Given the description of an element on the screen output the (x, y) to click on. 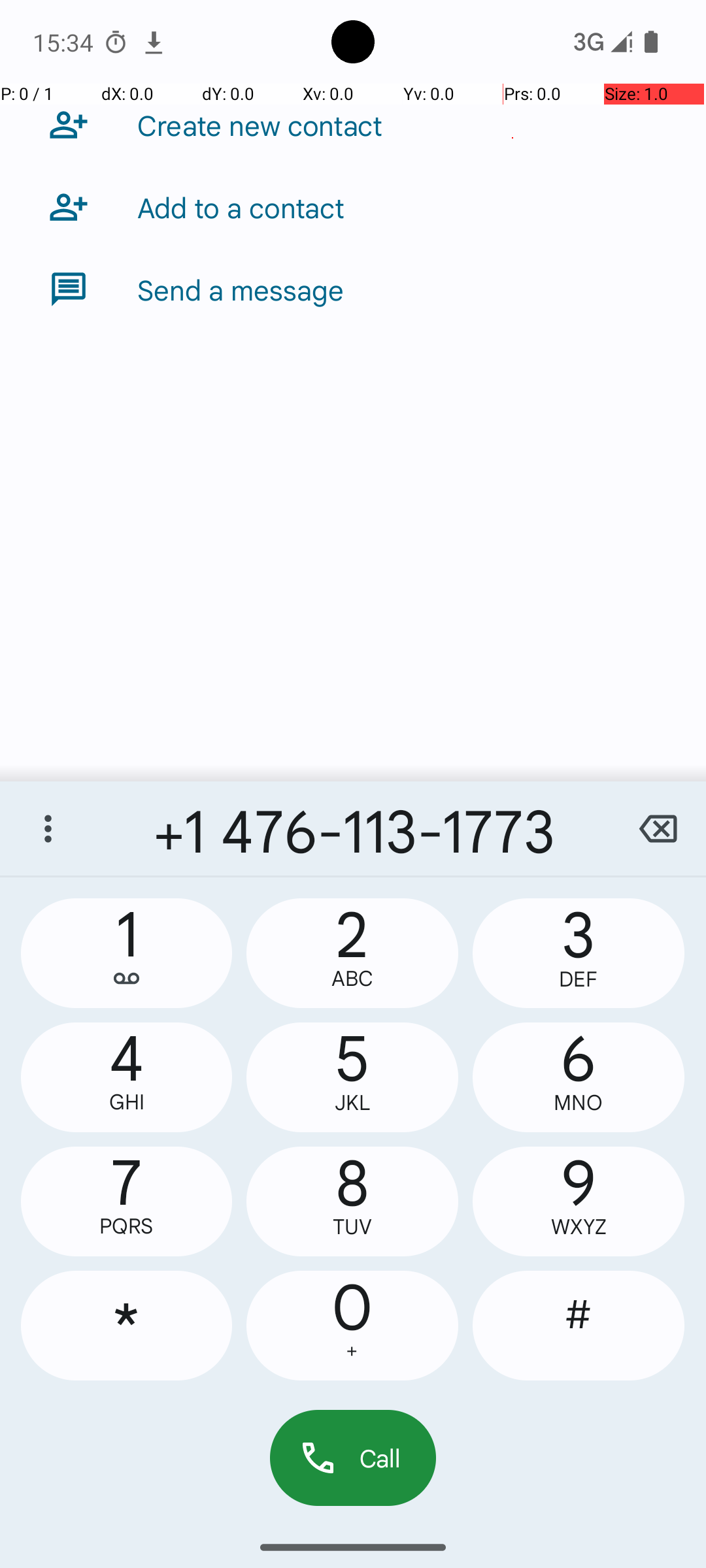
+1 476-113-1773 Element type: android.widget.EditText (352, 828)
